Given the description of an element on the screen output the (x, y) to click on. 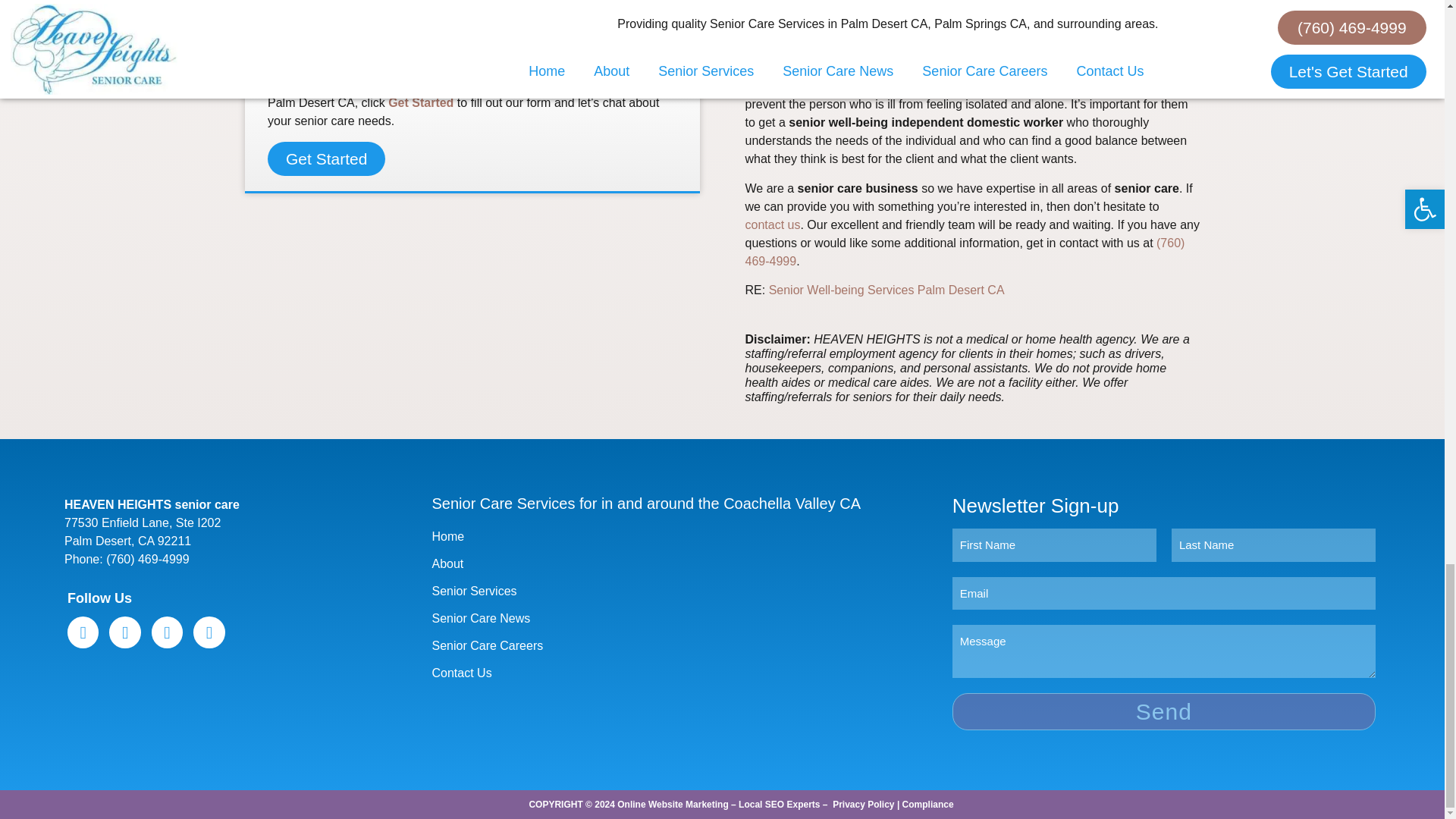
Privacy Policy (862, 804)
Home Health Care Services Carlsbad CA (886, 289)
Compliance (927, 804)
Online Website Marketing - Local SEO Experts (718, 804)
